Given the description of an element on the screen output the (x, y) to click on. 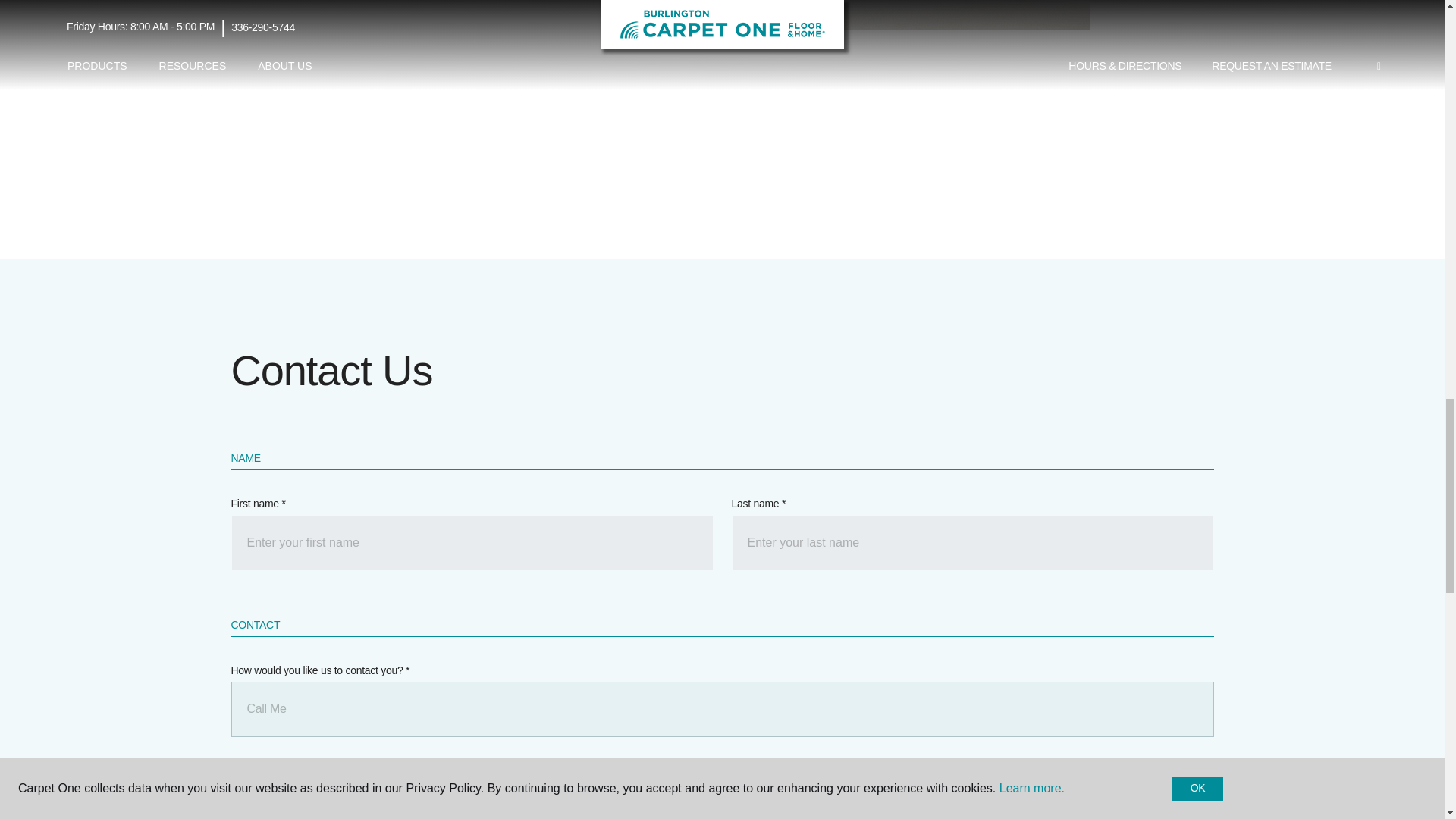
FirstName (471, 542)
CleanHomePhone (471, 797)
EmailAddress (971, 797)
LastName (971, 542)
